Given the description of an element on the screen output the (x, y) to click on. 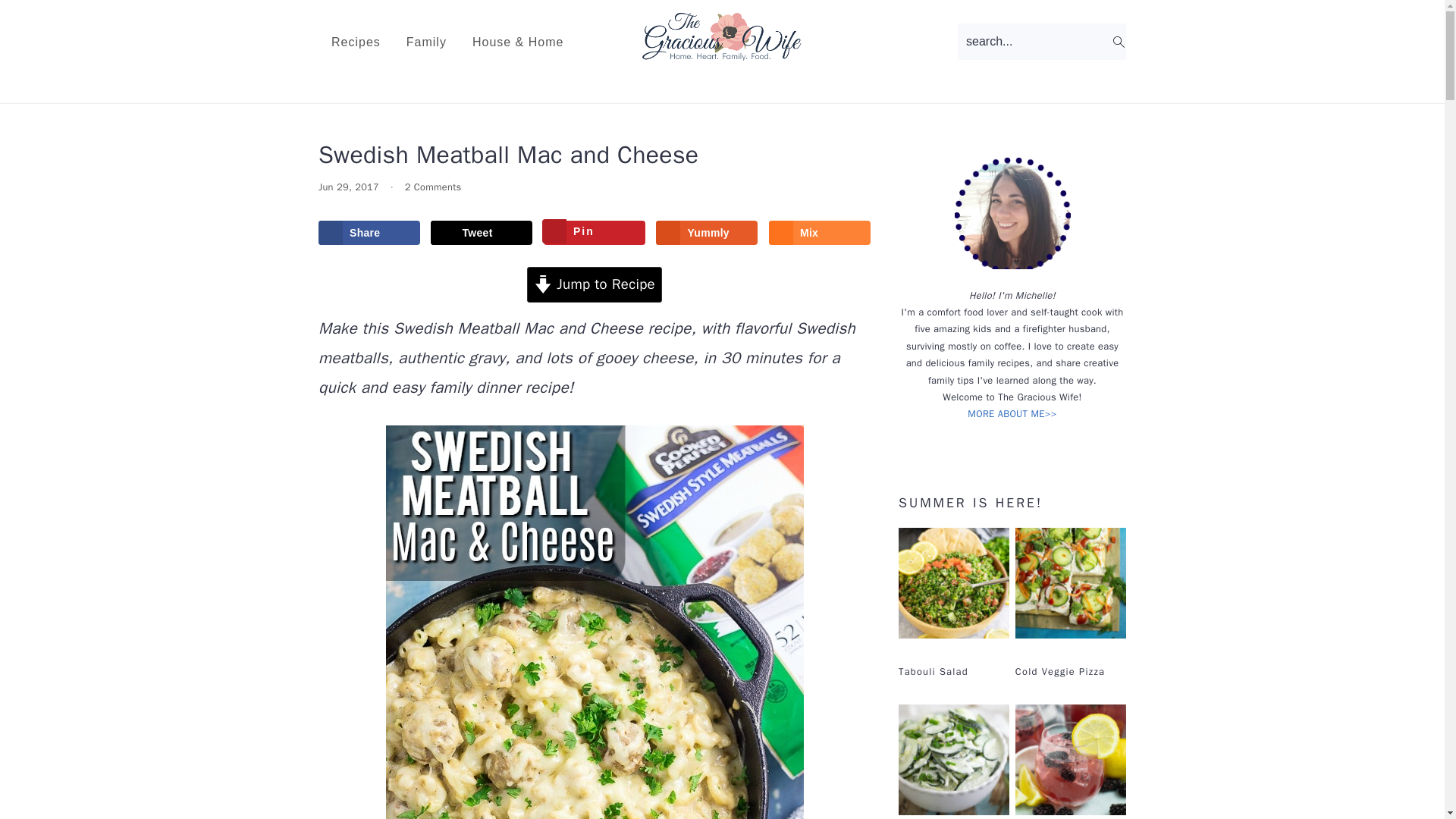
Tabouli Salad (953, 585)
The Gracious Wife (721, 36)
2 Comments (432, 186)
Tweet (481, 232)
Share on Facebook (369, 232)
Recipes (355, 42)
Creamy Cucumber Salad (953, 761)
Share (369, 232)
Yummly (706, 232)
Share on X (481, 232)
